Given the description of an element on the screen output the (x, y) to click on. 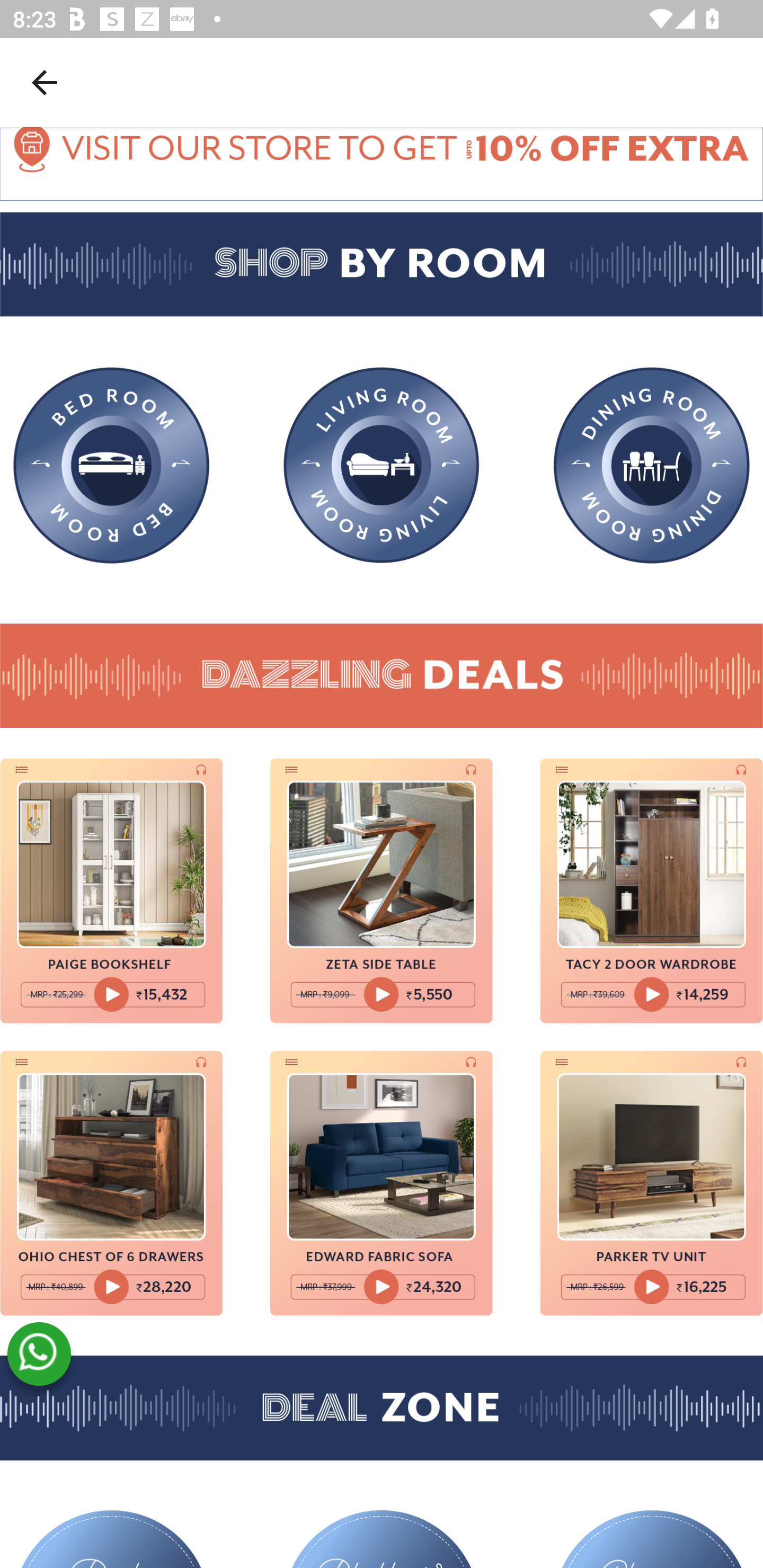
Navigate up (44, 82)
Melodies-From_home (381, 164)
Bed-room (111, 465)
Living room (381, 464)
Dinig room (651, 465)
Dazzling deals-1 (111, 890)
Dazzling deals-2 (381, 890)
Dazzling deals-3 (651, 890)
dazzling deals-4 (111, 1183)
Dazzling deals-6 (651, 1183)
whatsapp (38, 1353)
